Given the description of an element on the screen output the (x, y) to click on. 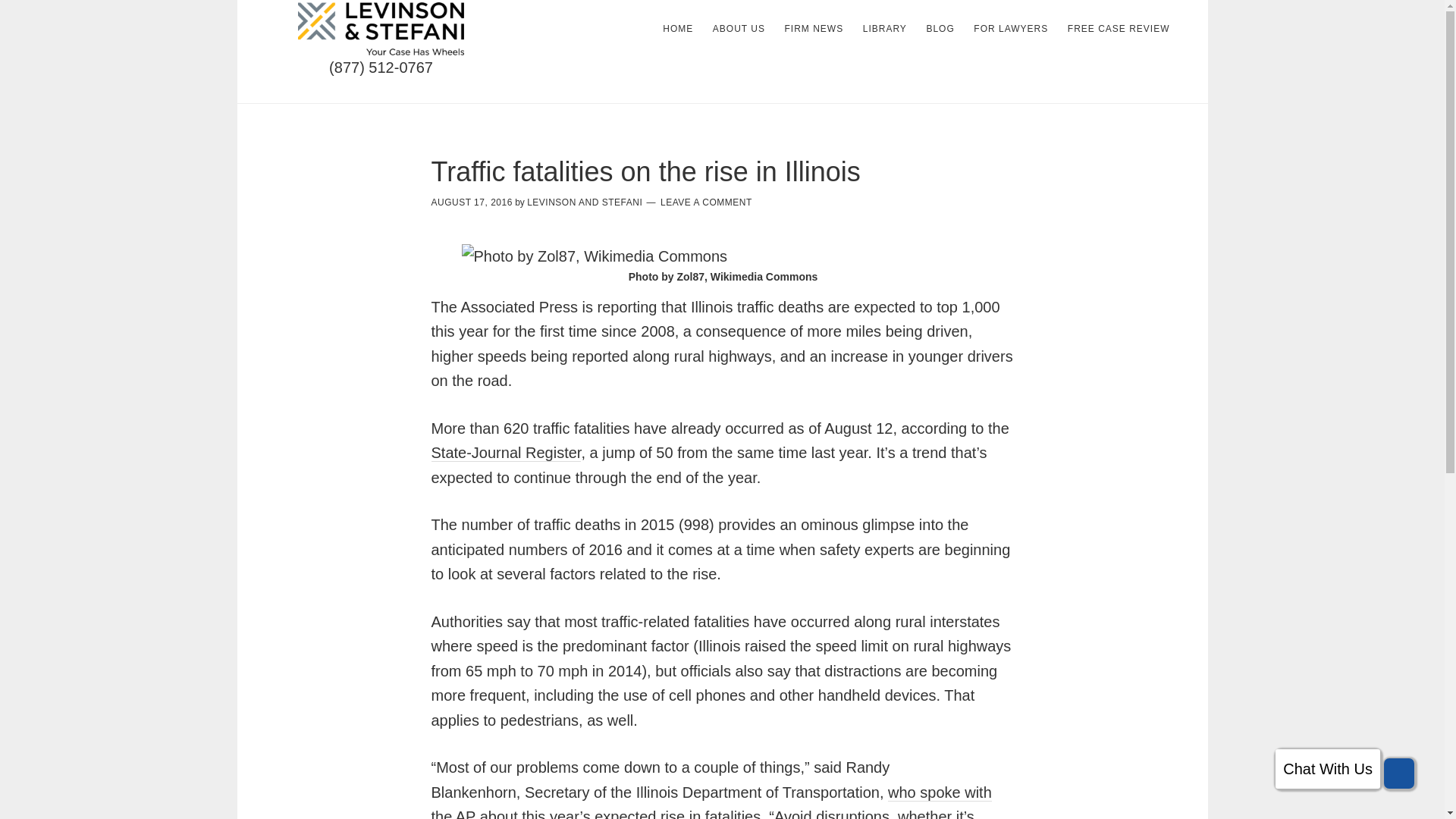
who spoke with the AP (710, 801)
FIRM NEWS (813, 28)
ABOUT US (738, 28)
HOME (677, 28)
LEVINSON AND STEFANI (584, 202)
FREE CASE REVIEW (1118, 28)
LEAVE A COMMENT (706, 202)
LEVINSON AND STEFANI INJURY LAWYERS (380, 28)
FOR LAWYERS (1010, 28)
State-Journal Register (505, 452)
BLOG (939, 28)
LIBRARY (885, 28)
